Given the description of an element on the screen output the (x, y) to click on. 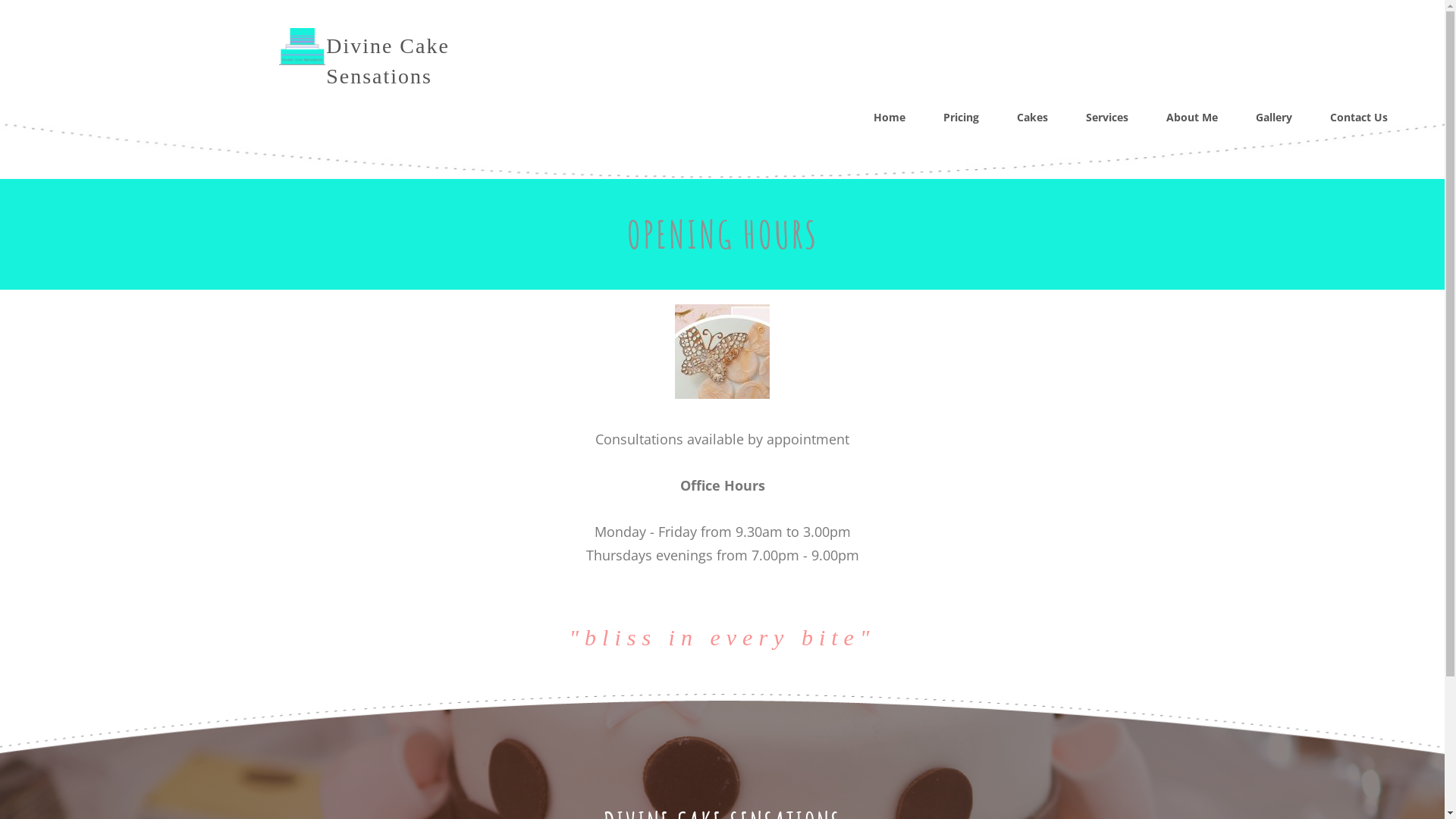
Pricing Element type: text (961, 117)
Gallery Element type: text (1273, 117)
Services Element type: text (1106, 117)
Cakes Element type: text (1032, 117)
Contact Us Element type: text (1358, 117)
About Me Element type: text (1191, 117)
Home Element type: text (889, 117)
